Given the description of an element on the screen output the (x, y) to click on. 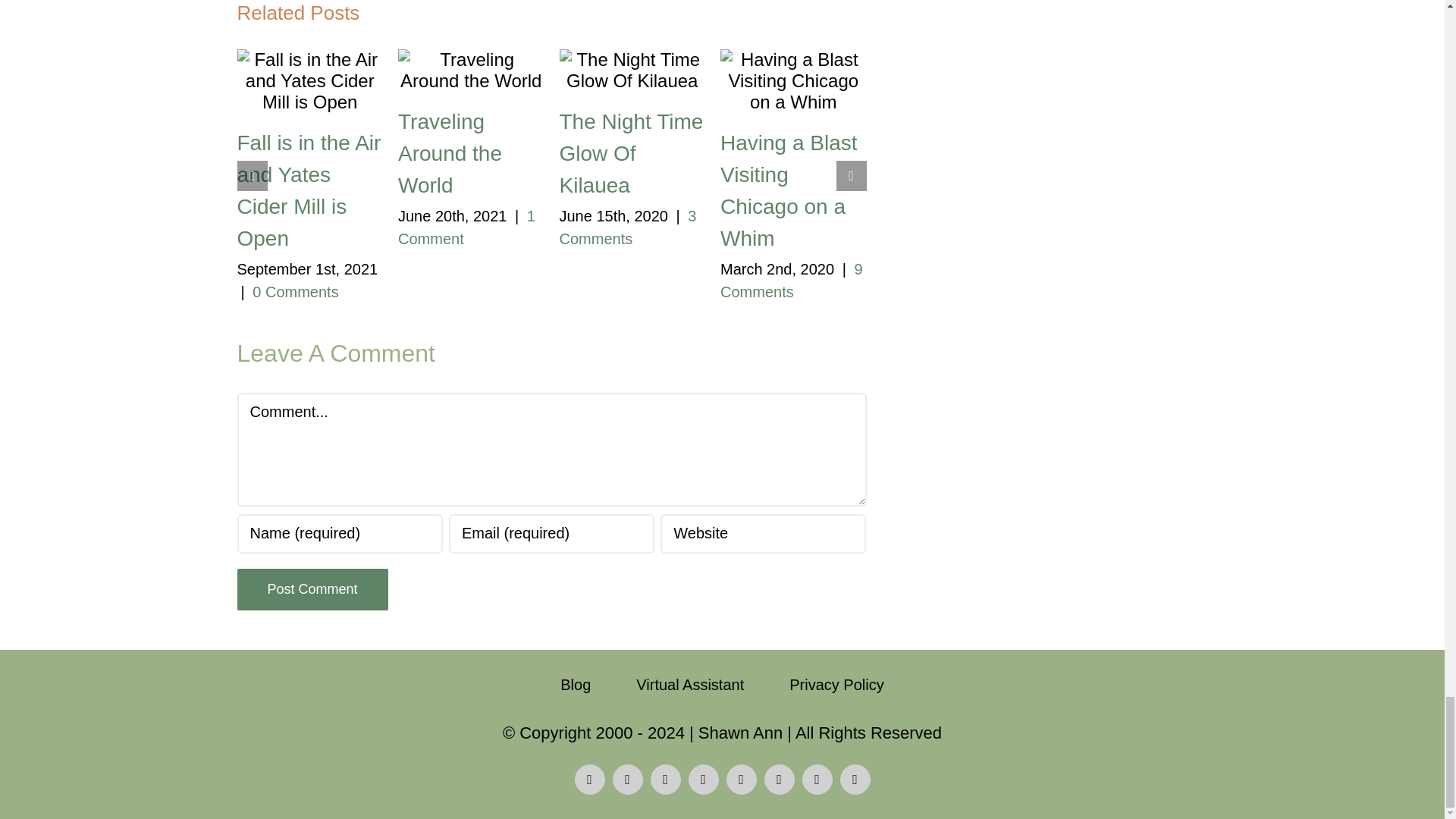
Post Comment (311, 589)
0 Comments (294, 291)
Fall is in the Air and Yates Cider Mill is Open (307, 190)
